Given the description of an element on the screen output the (x, y) to click on. 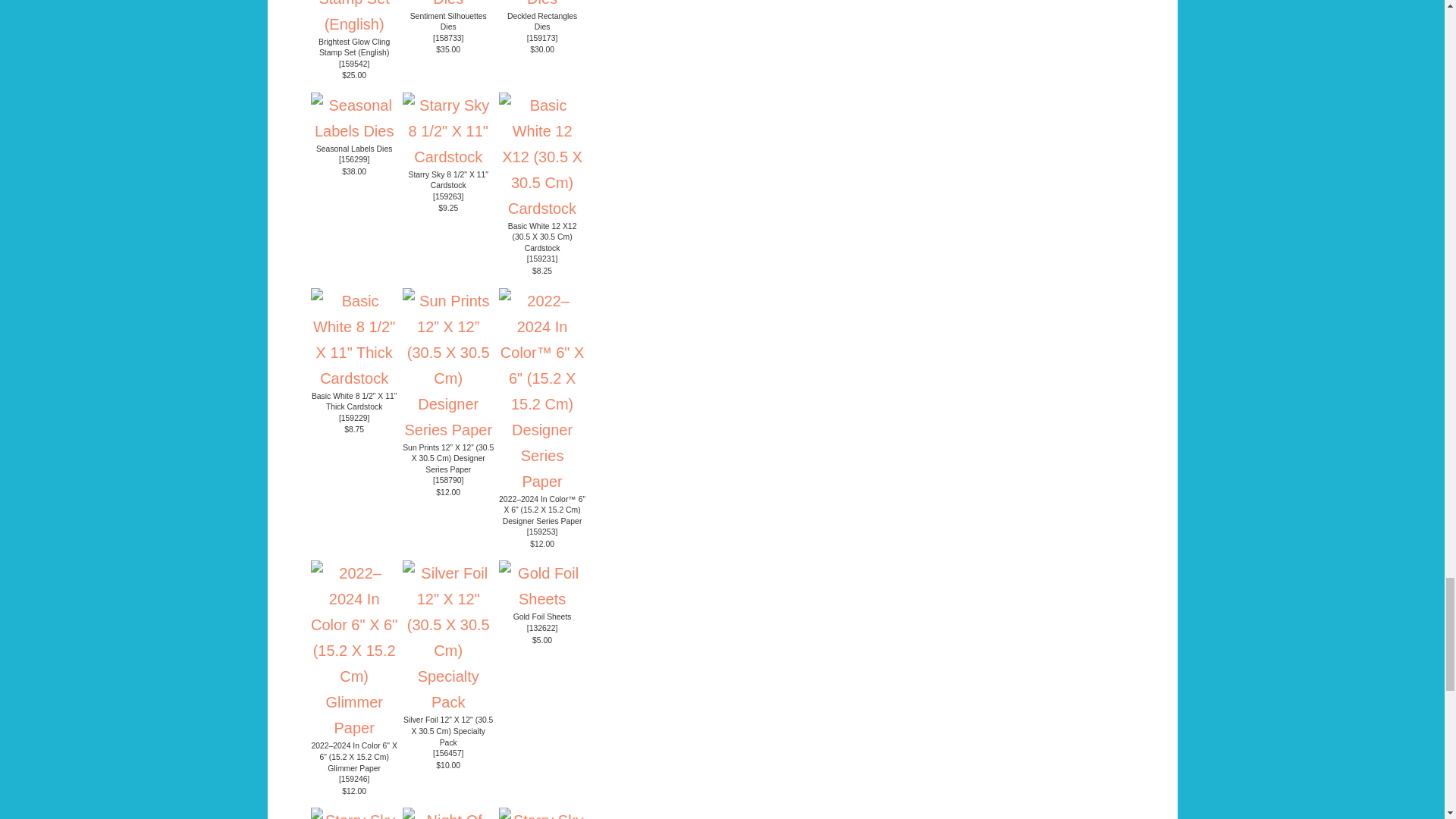
Sentiment Silhouettes Dies (449, 3)
Deckled Rectangles Dies (541, 21)
159263 (448, 196)
Deckled Rectangles Dies (542, 3)
159542 (354, 63)
159173 (542, 38)
Seasonal Labels Dies (354, 148)
159231 (542, 258)
Sentiment Silhouettes Dies (448, 21)
Deckled Rectangles Dies (541, 21)
